Given the description of an element on the screen output the (x, y) to click on. 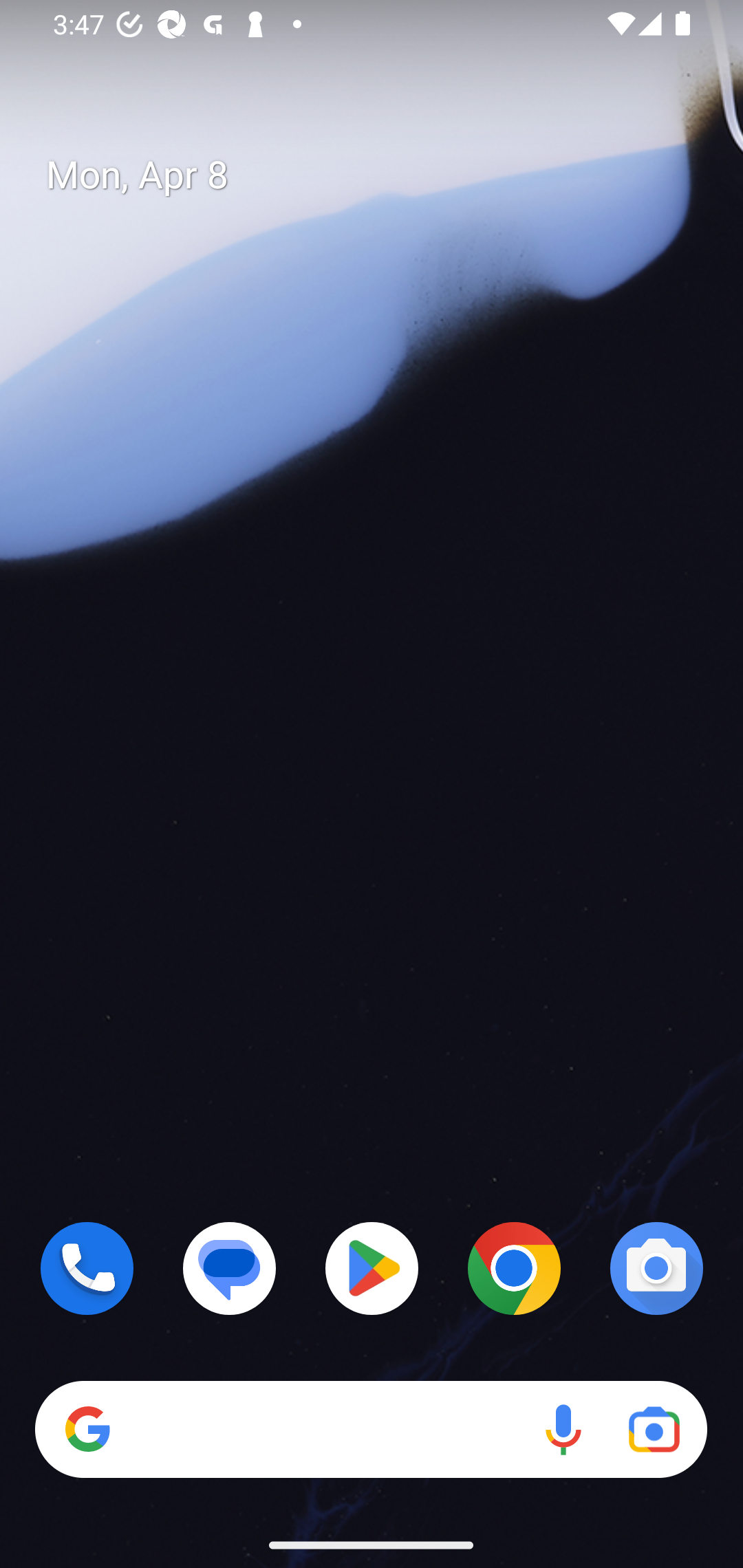
Mon, Apr 8 (386, 175)
Phone (86, 1268)
Messages (229, 1268)
Play Store (371, 1268)
Chrome (513, 1268)
Camera (656, 1268)
Search Voice search Google Lens (370, 1429)
Voice search (562, 1429)
Google Lens (653, 1429)
